Given the description of an element on the screen output the (x, y) to click on. 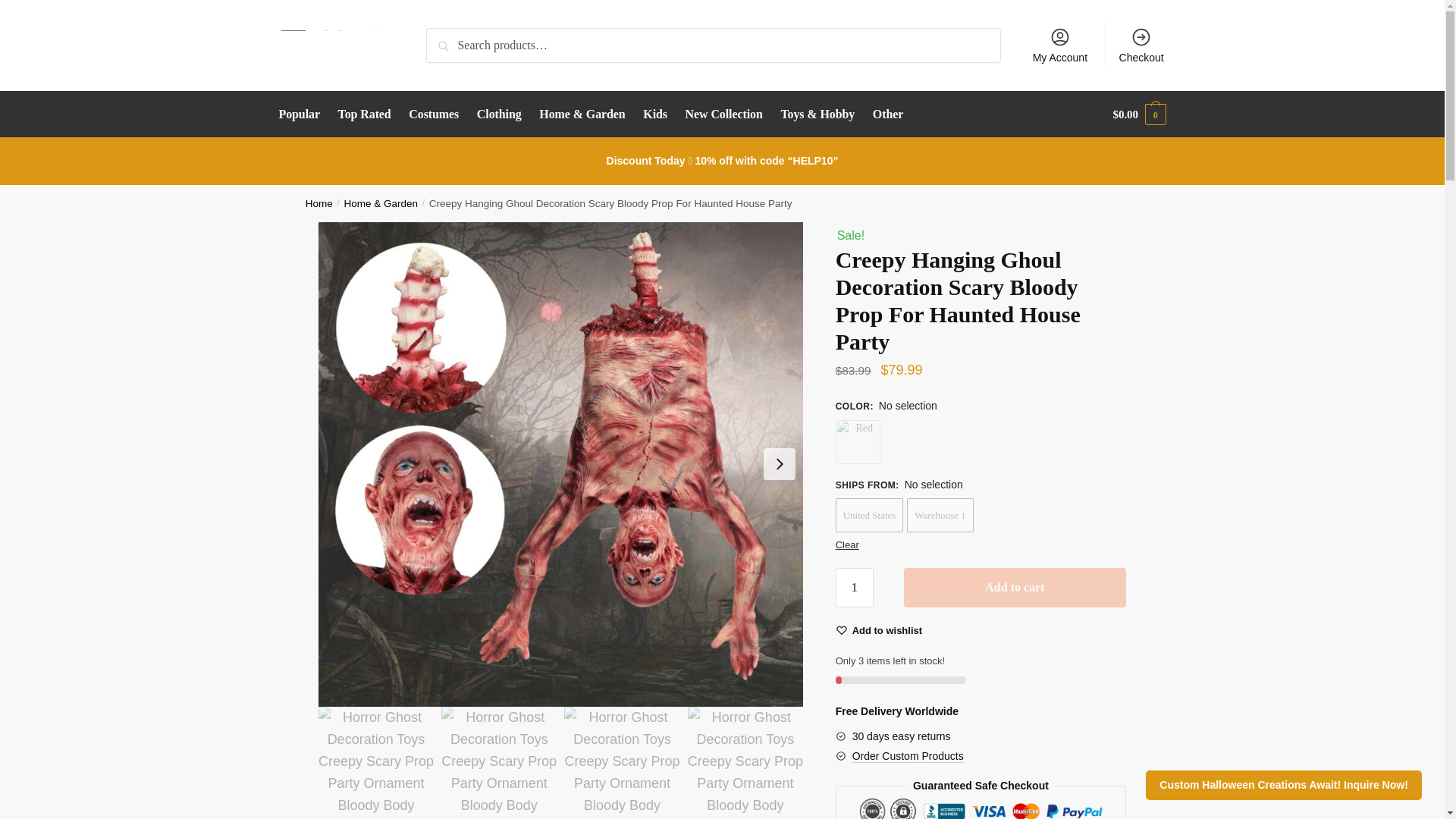
Home (319, 202)
Top Rated (364, 114)
View your shopping cart (1139, 114)
Popular (302, 114)
New Collection (724, 114)
Clothing (498, 114)
Other (888, 114)
